Given the description of an element on the screen output the (x, y) to click on. 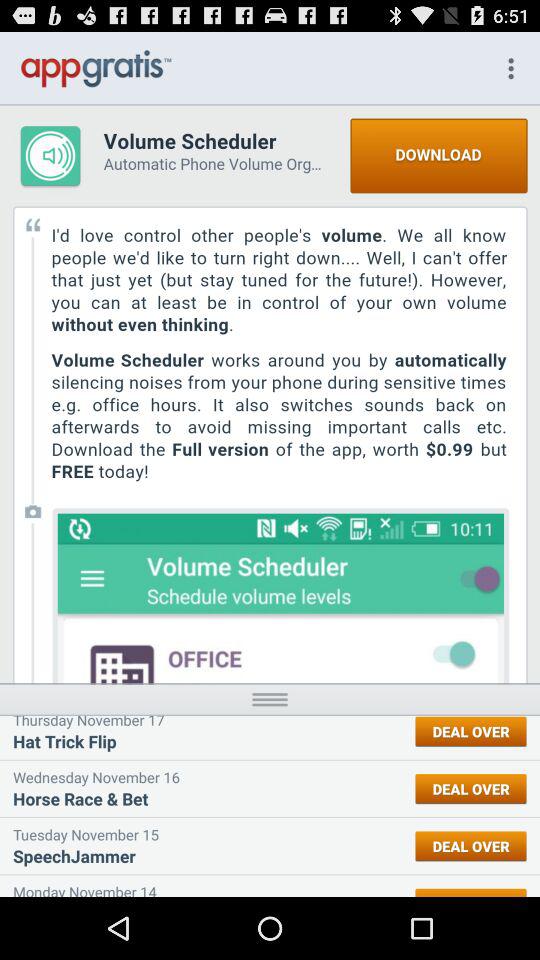
go to icon (270, 698)
